Given the description of an element on the screen output the (x, y) to click on. 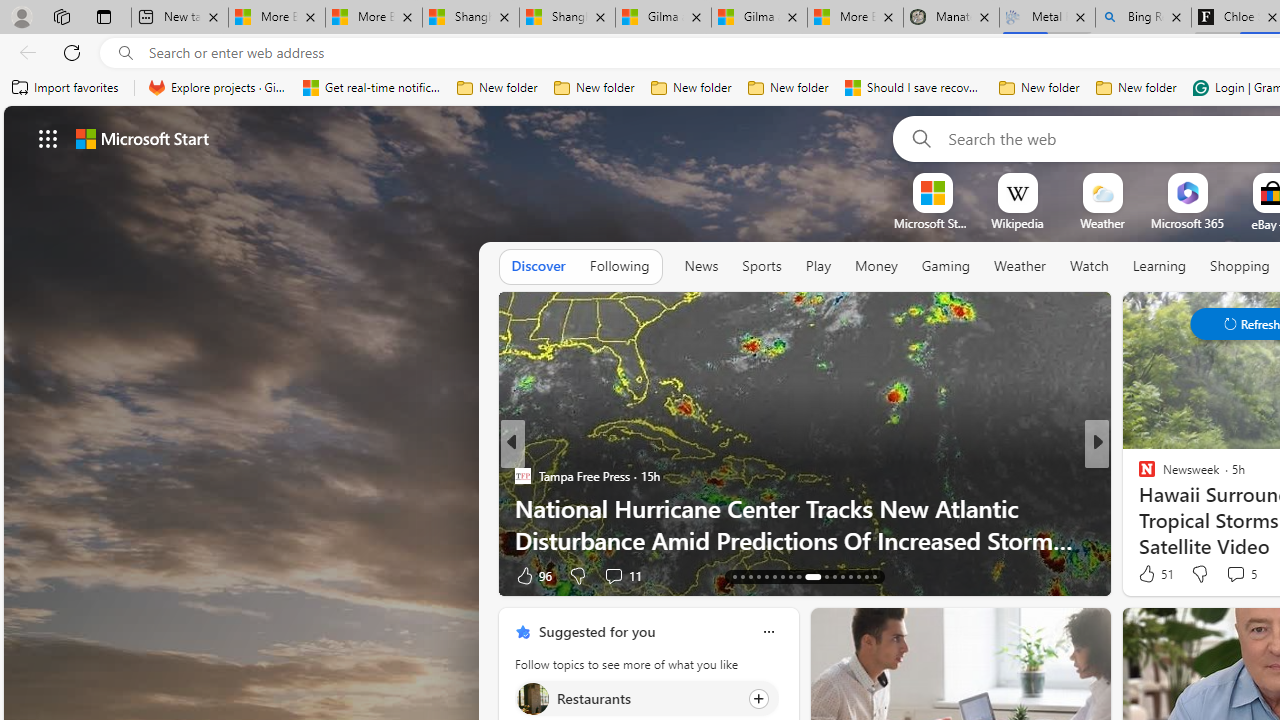
View comments 11 Comment (622, 574)
View comments 7 Comment (1234, 574)
Restaurants (532, 697)
Click to follow topic Restaurants (646, 698)
Should I save recovered Word documents? - Microsoft Support (913, 88)
View comments 3 Comment (1229, 575)
AutomationID: tab-31 (857, 576)
AutomationID: tab-24 (789, 576)
You're following The Weather Channel (445, 579)
AutomationID: tab-17 (733, 576)
